Given the description of an element on the screen output the (x, y) to click on. 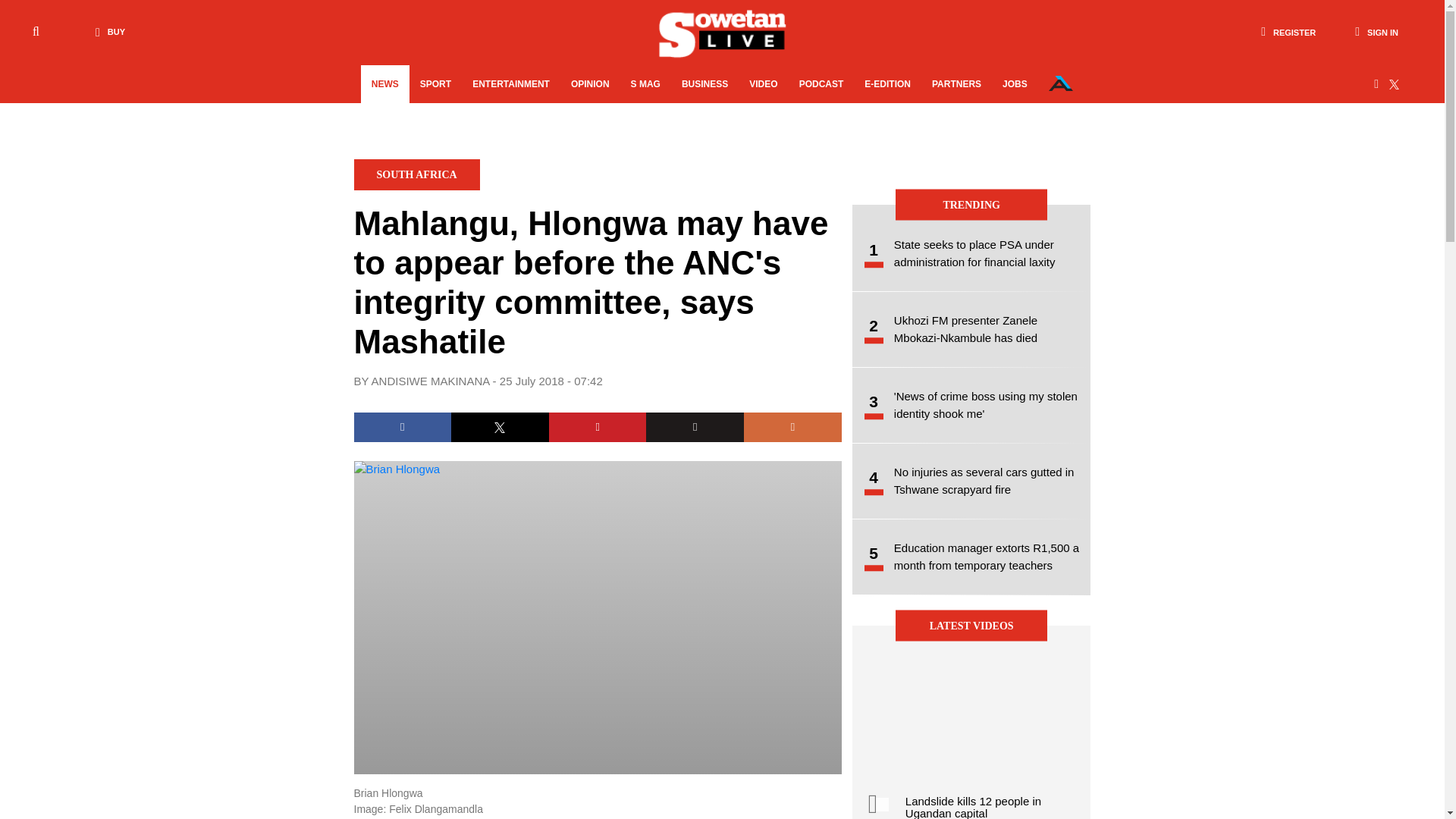
BUY (106, 32)
VIDEO (762, 84)
SIGN IN (1376, 32)
PARTNERS (956, 84)
BUSINESS (704, 84)
PODCAST (821, 84)
S MAG (645, 84)
Our Network (1060, 83)
SPORT (435, 84)
NEWS (385, 84)
